Given the description of an element on the screen output the (x, y) to click on. 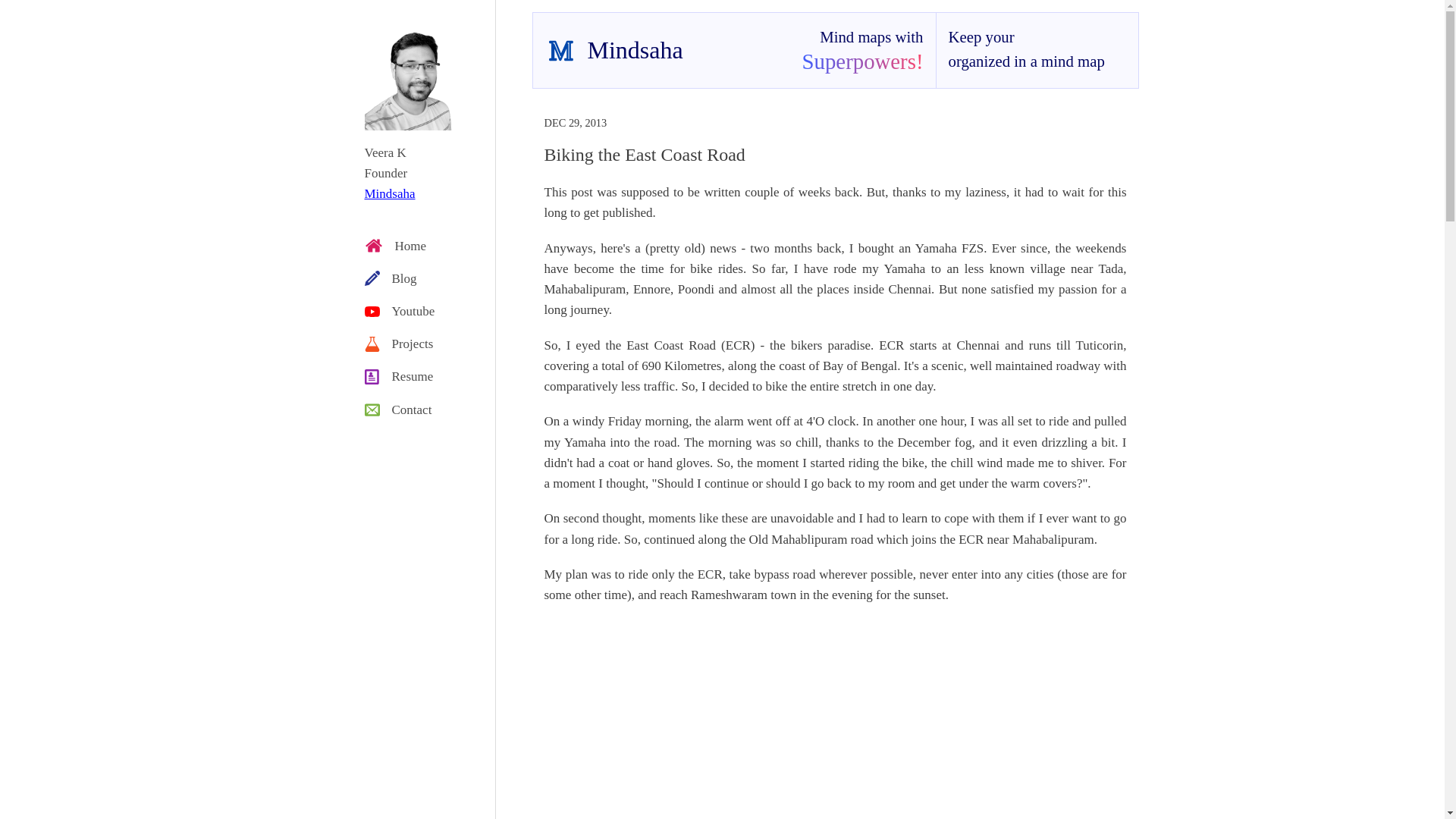
Contact (416, 409)
Home (416, 246)
Youtube (416, 310)
Projects (416, 343)
Blog (416, 278)
Resume (416, 376)
Mindsaha (389, 193)
